Given the description of an element on the screen output the (x, y) to click on. 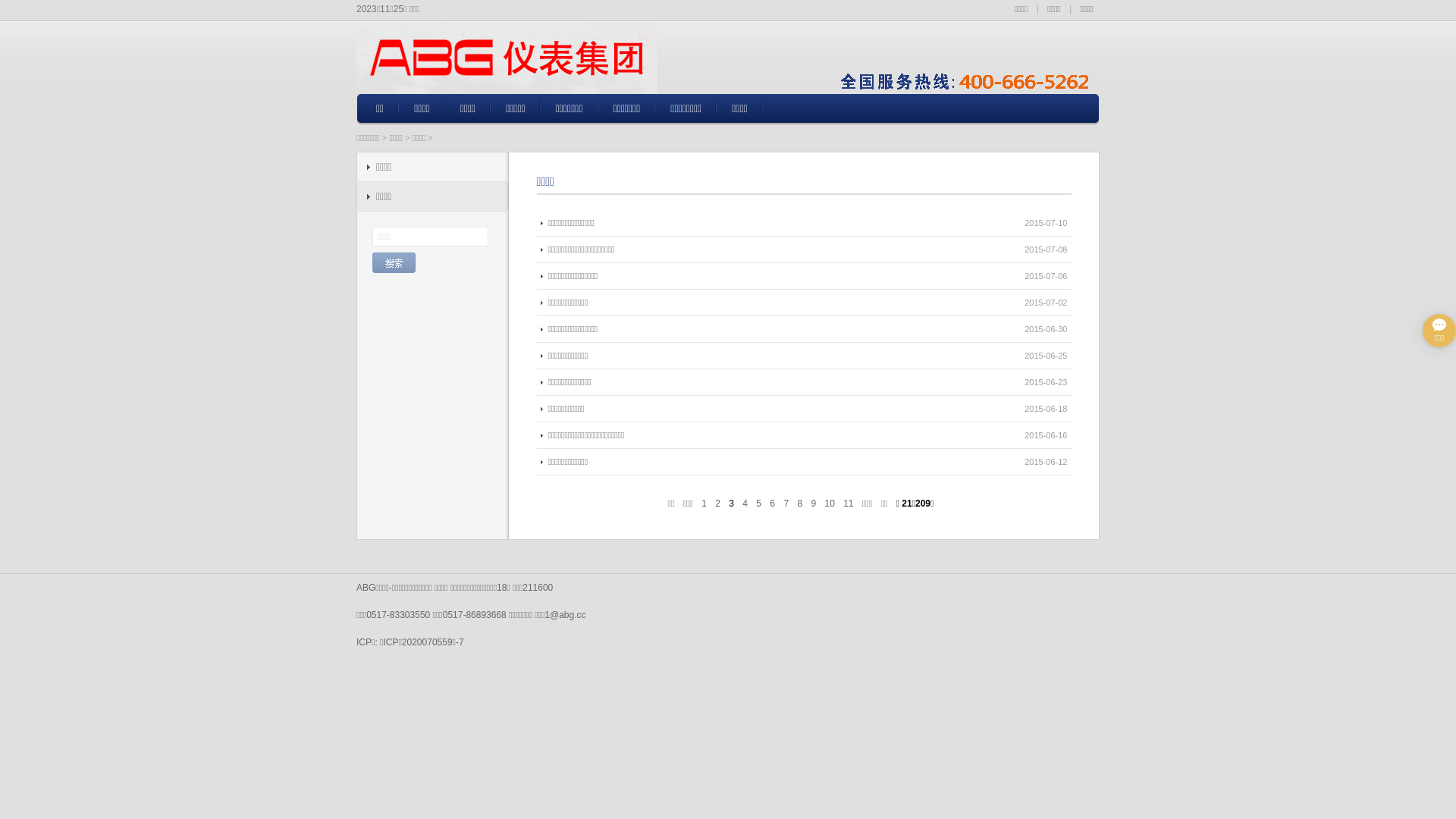
8 Element type: text (799, 503)
7 Element type: text (785, 503)
1@abg.cc Element type: text (564, 614)
5 Element type: text (758, 503)
10 Element type: text (829, 503)
9 Element type: text (812, 503)
6 Element type: text (772, 503)
11 Element type: text (848, 503)
2 Element type: text (717, 503)
4 Element type: text (744, 503)
1 Element type: text (703, 503)
